Given the description of an element on the screen output the (x, y) to click on. 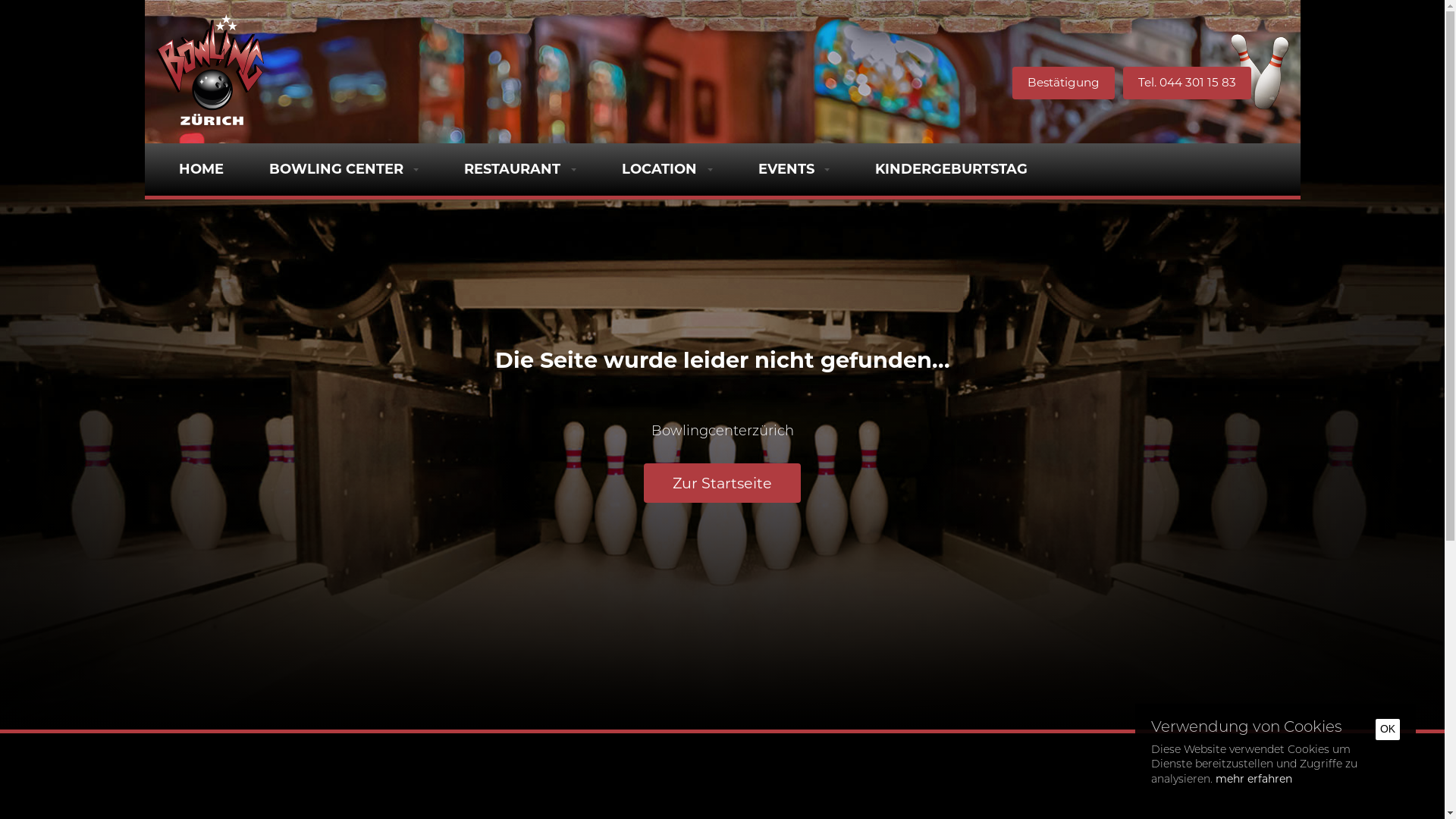
EVENTS Element type: text (794, 168)
BOWLING CENTER Element type: text (343, 168)
Tel. 044 301 15 83 Element type: text (1186, 82)
Zur Startseite Element type: text (722, 482)
HOME Element type: text (201, 168)
LOCATION Element type: text (667, 168)
mehr erfahren Element type: text (1253, 774)
KINDERGEBURTSTAG Element type: text (951, 168)
RESTAURANT Element type: text (520, 168)
OK Element type: text (1387, 728)
